Given the description of an element on the screen output the (x, y) to click on. 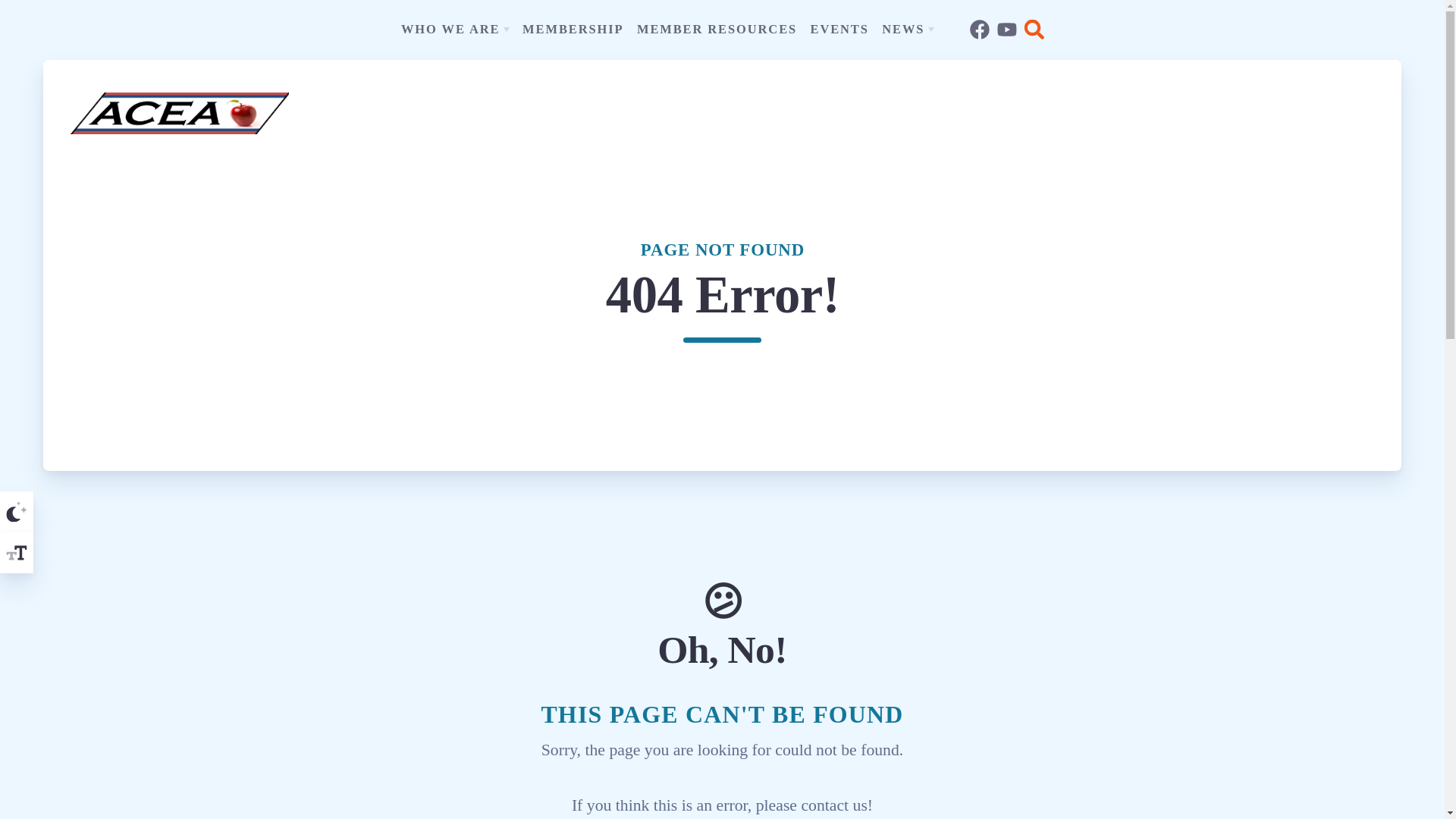
NEWS (907, 29)
MEMBER RESOURCES (716, 29)
WHO WE ARE (455, 29)
EVENTS (839, 29)
MEMBERSHIP (572, 29)
